Given the description of an element on the screen output the (x, y) to click on. 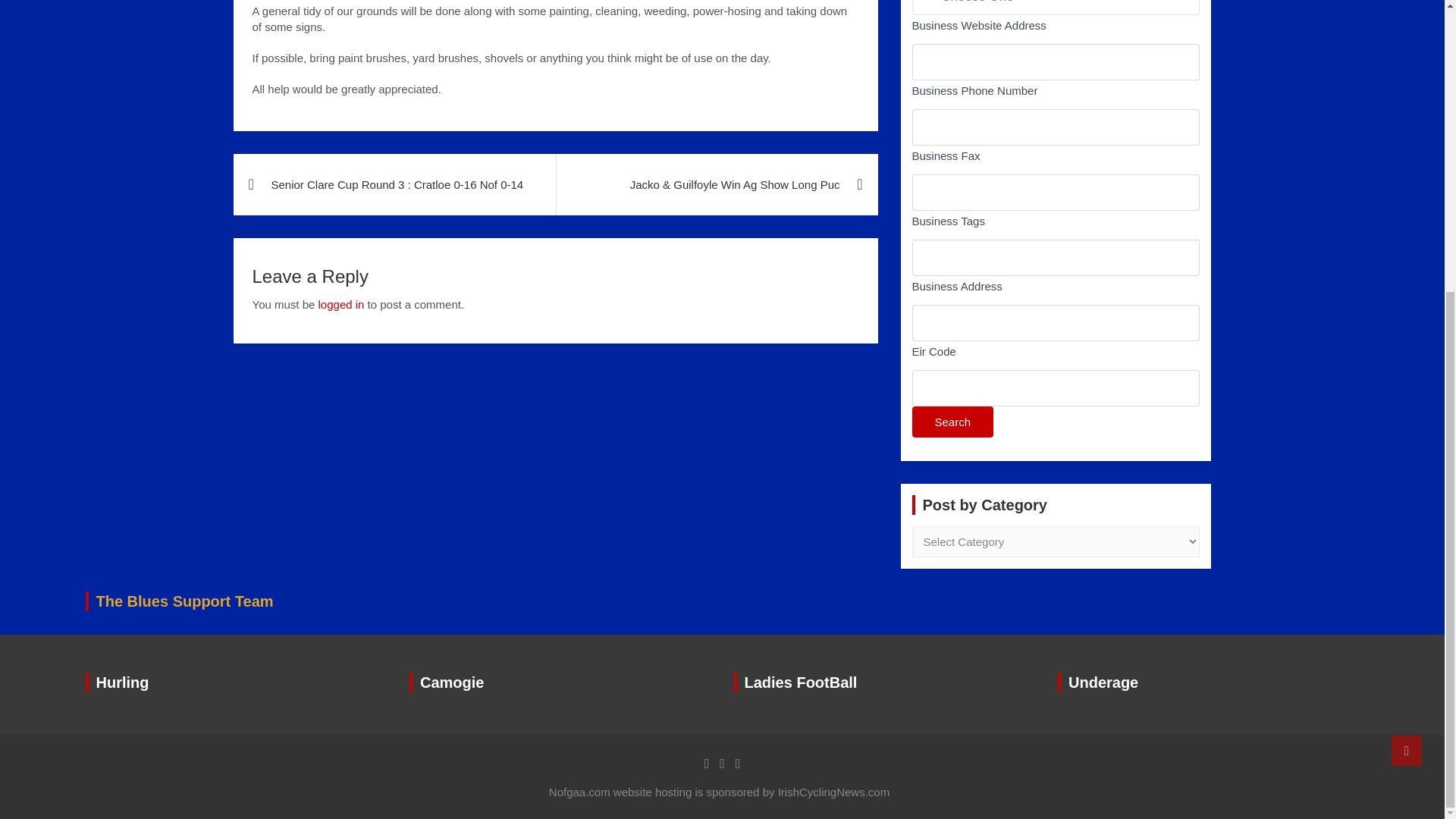
Search (951, 421)
Search (951, 421)
Search (951, 421)
Senior Clare Cup Round 3 : Cratloe 0-16 Nof 0-14 (394, 184)
logged in (341, 304)
